Given the description of an element on the screen output the (x, y) to click on. 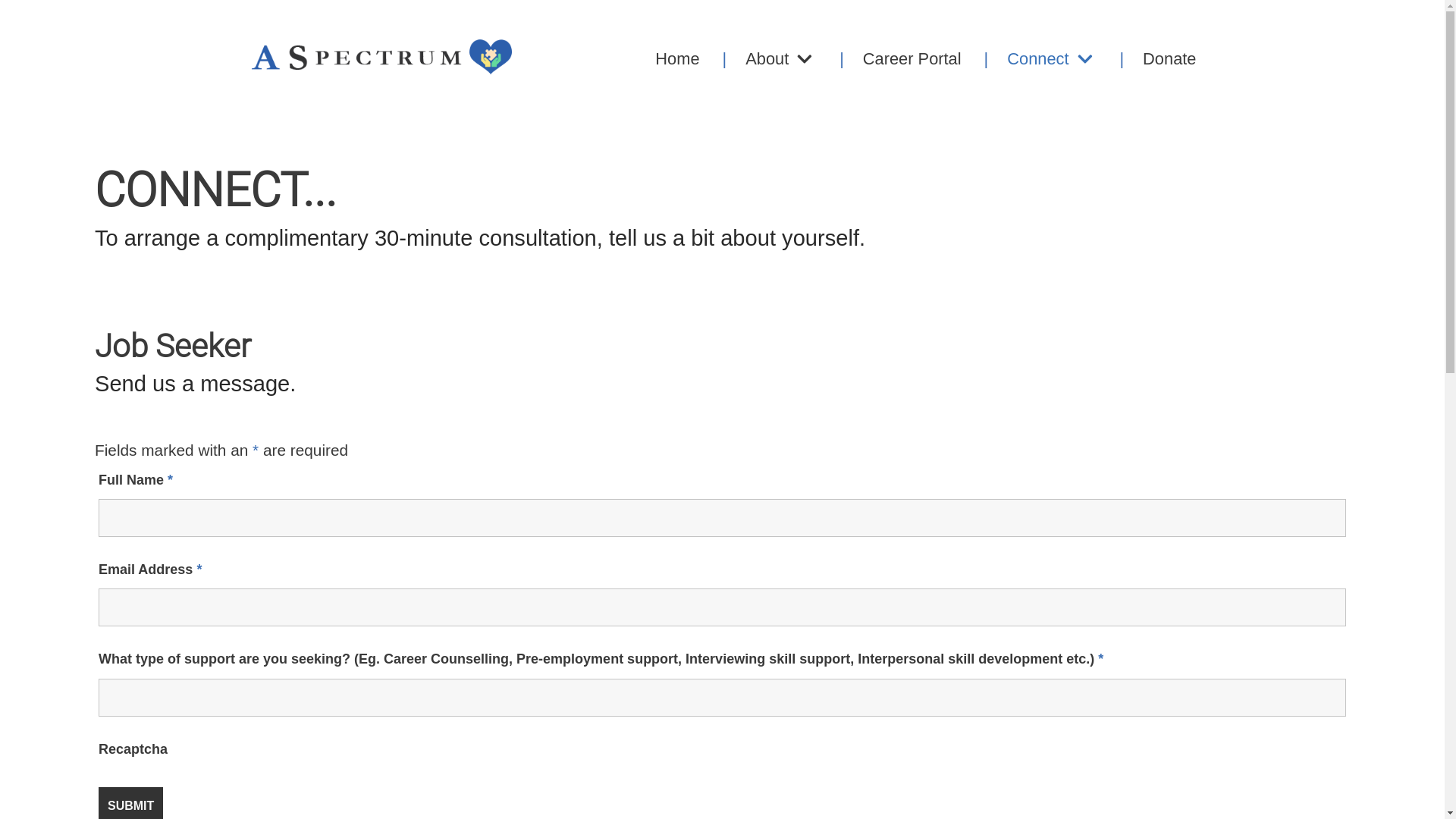
Home Element type: text (677, 58)
Career Portal Element type: text (890, 58)
About Element type: text (760, 58)
Connect Element type: text (1031, 58)
ASpectrum Element type: hover (381, 58)
Skip to content Element type: text (15, 7)
Donate Element type: text (1147, 58)
